Given the description of an element on the screen output the (x, y) to click on. 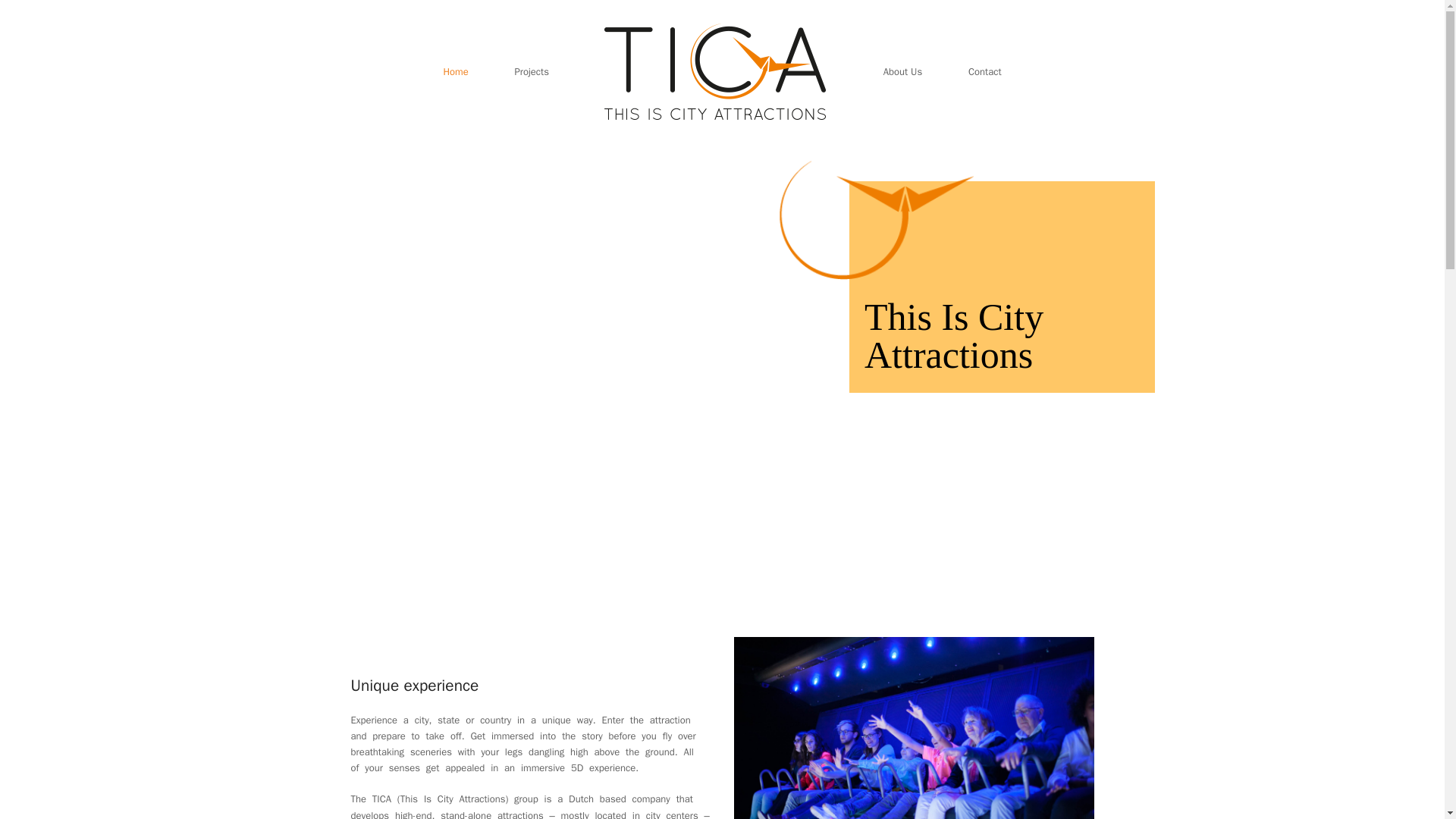
About Us (902, 71)
Projects (532, 71)
Contact (984, 71)
This is Holland HR-9 (913, 728)
Home (456, 71)
